Given the description of an element on the screen output the (x, y) to click on. 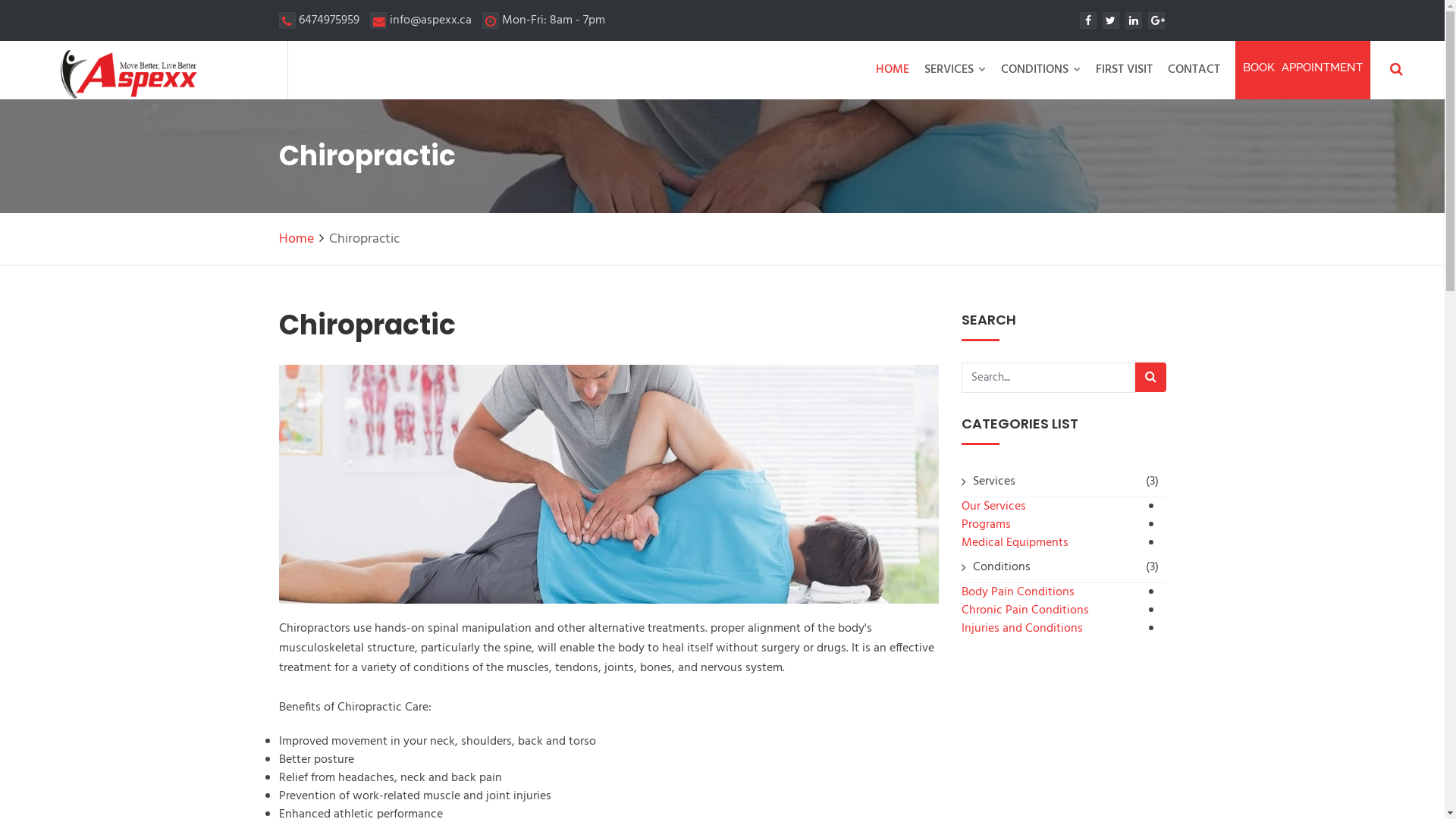
BOOK APPOINTMENT Element type: text (1302, 69)
info@aspexx.ca Element type: text (420, 20)
Medical Equipments Element type: text (1014, 542)
CONTACT Element type: text (1193, 69)
Body Pain Conditions Element type: text (1017, 592)
HOME Element type: text (892, 69)
Services Element type: text (993, 481)
Chiropractic Element type: hover (608, 483)
Our Services Element type: text (993, 506)
Mon-Fri: 8am - 7pm Element type: text (543, 20)
Programs Element type: text (985, 524)
CONDITIONS Element type: text (1040, 69)
Home Element type: text (296, 239)
6474975959 Element type: text (319, 20)
Chronic Pain Conditions Element type: text (1024, 610)
Injuries and Conditions Element type: text (1021, 628)
SERVICES Element type: text (954, 69)
Conditions Element type: text (1000, 566)
FIRST VISIT Element type: text (1124, 69)
